Given the description of an element on the screen output the (x, y) to click on. 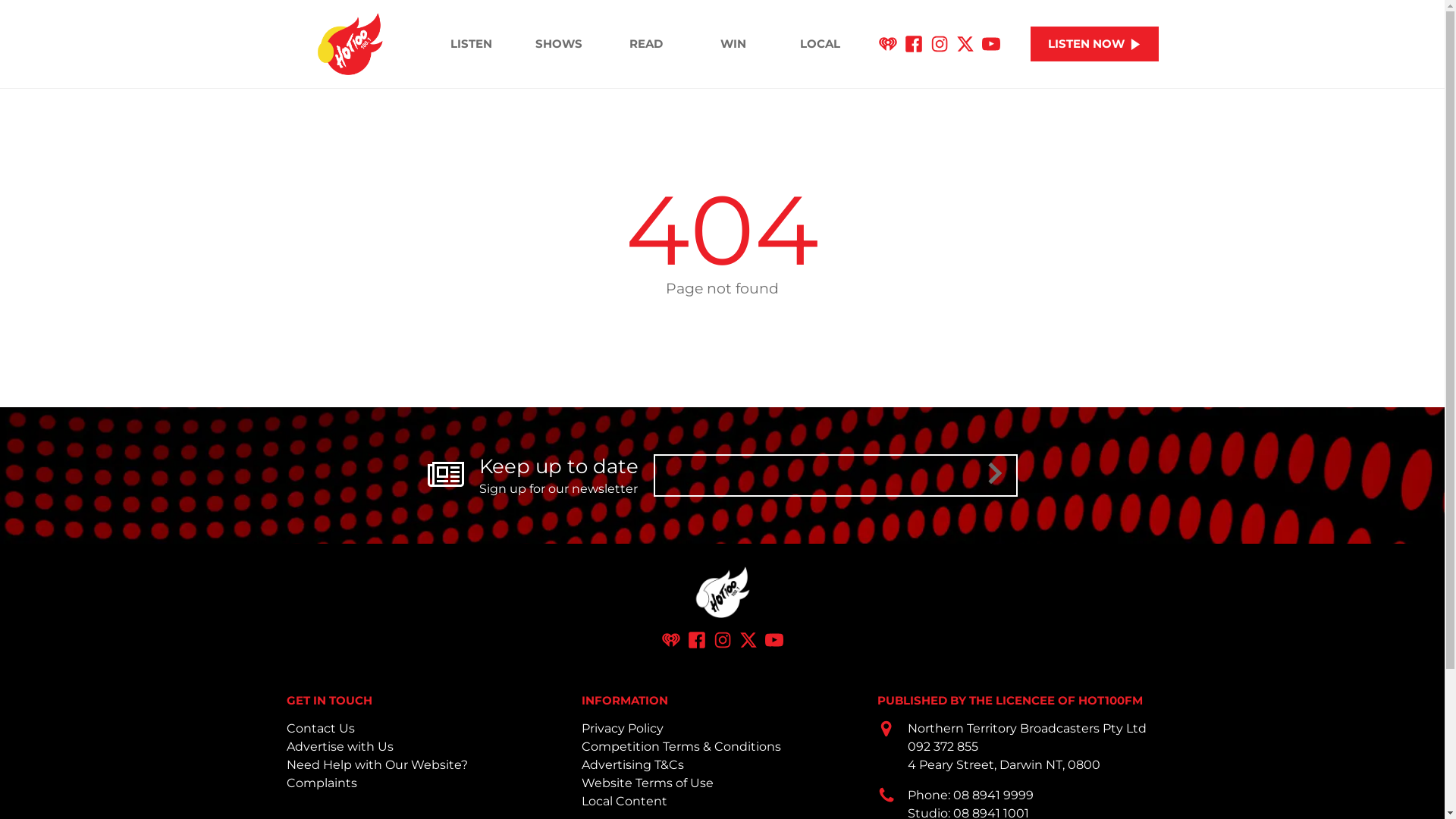
Twitter/X Element type: text (965, 43)
Advertising T&Cs Element type: text (632, 764)
iHeart Element type: text (670, 639)
WIN Element type: text (732, 43)
Facebook Element type: text (696, 639)
SHOWS Element type: text (558, 43)
Contact Us Element type: text (320, 728)
Local Content Element type: text (624, 800)
08 8941 9999 Element type: text (993, 794)
Complaints Element type: text (321, 782)
Instagram Element type: text (939, 43)
LISTEN NOW Element type: text (1094, 44)
Twitter/X Element type: text (747, 639)
Facebook Element type: text (913, 43)
READ Element type: text (645, 43)
iHeart Element type: text (887, 43)
Competition Terms & Conditions Element type: text (681, 746)
Privacy Policy Element type: text (622, 728)
Advertise with Us Element type: text (339, 746)
YouTube Element type: text (991, 43)
YouTube Element type: text (773, 639)
Need Help with Our Website? Element type: text (376, 764)
LOCAL Element type: text (819, 43)
Instagram Element type: text (721, 639)
LISTEN Element type: text (470, 43)
Website Terms of Use Element type: text (647, 782)
